Given the description of an element on the screen output the (x, y) to click on. 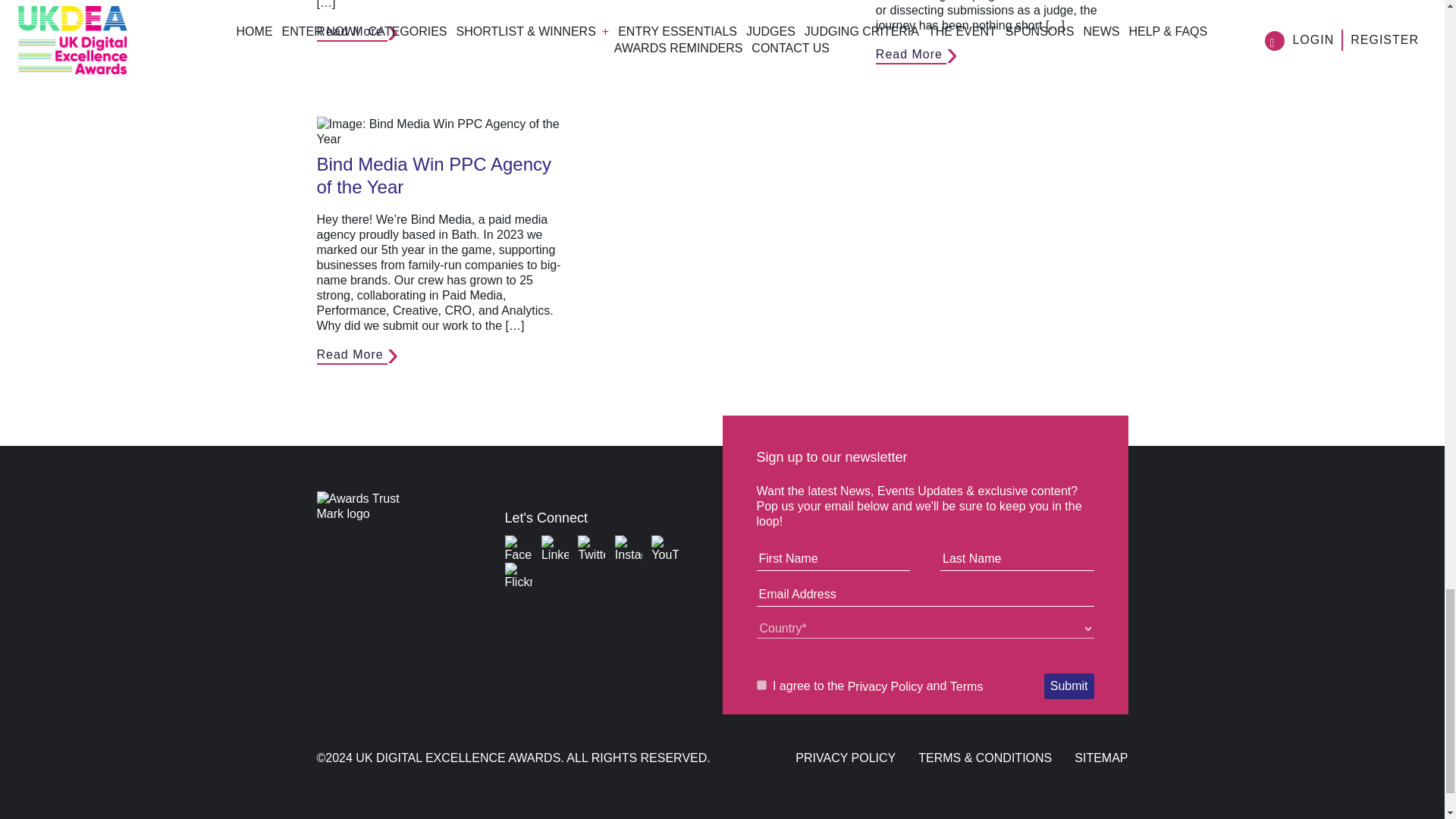
Read More (911, 54)
Read More (352, 354)
Read More (352, 31)
on (762, 685)
